Given the description of an element on the screen output the (x, y) to click on. 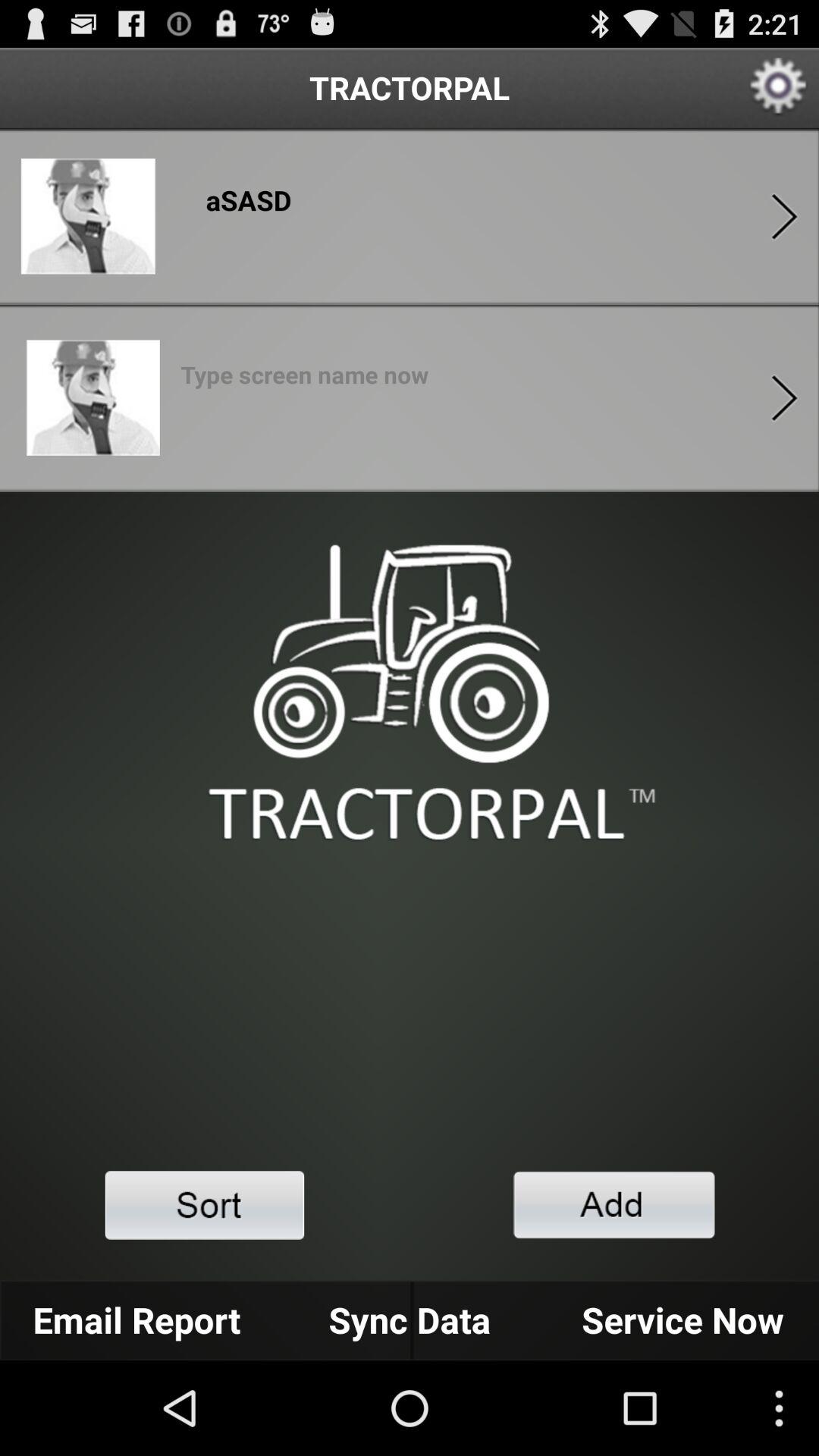
forwad (784, 397)
